Given the description of an element on the screen output the (x, y) to click on. 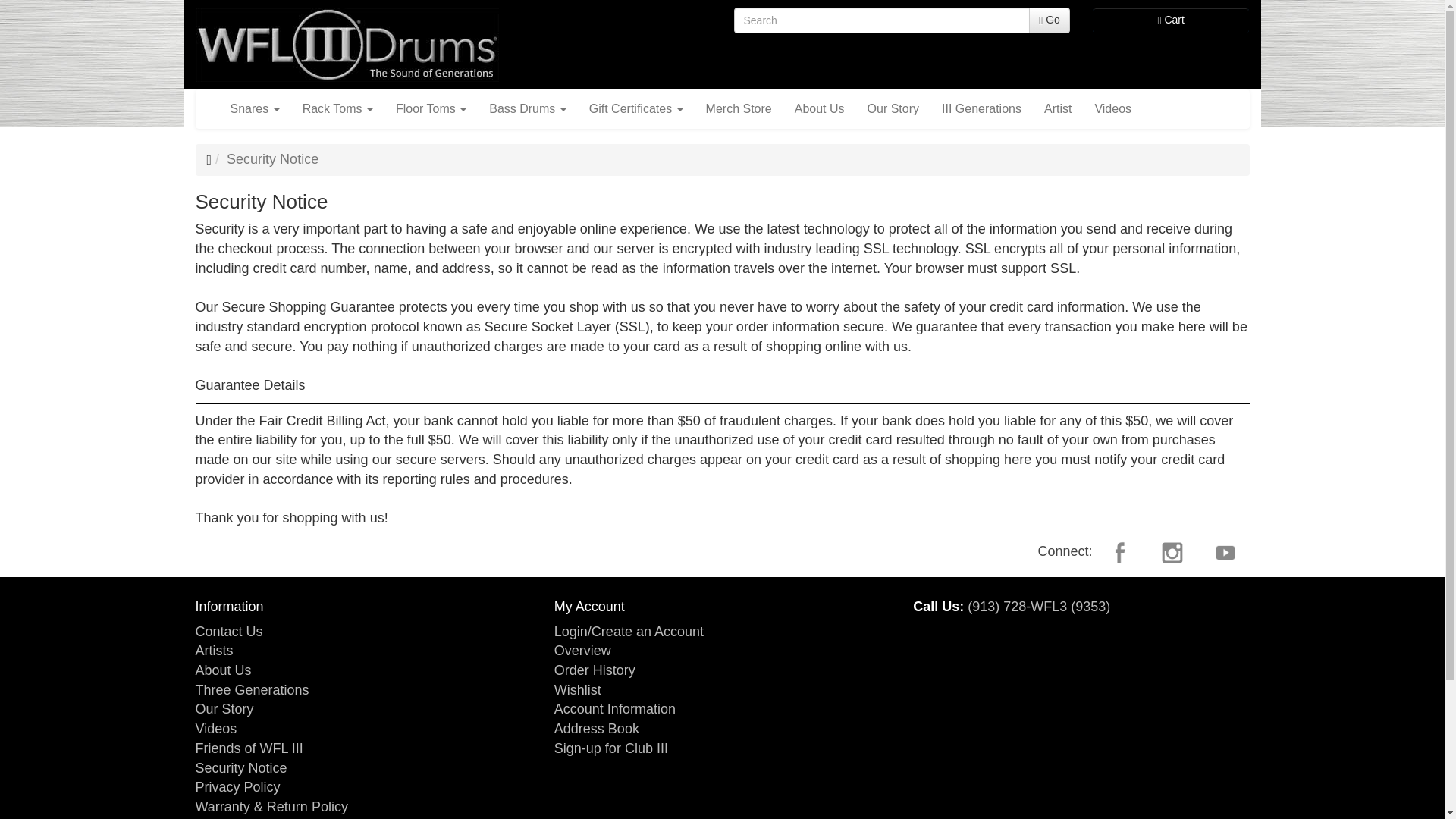
Snares (253, 108)
Cart (1171, 20)
Floor Toms (430, 108)
Go (1049, 20)
Gift Certificates (636, 108)
Bass Drums (527, 108)
Rack Toms (337, 108)
